Given the description of an element on the screen output the (x, y) to click on. 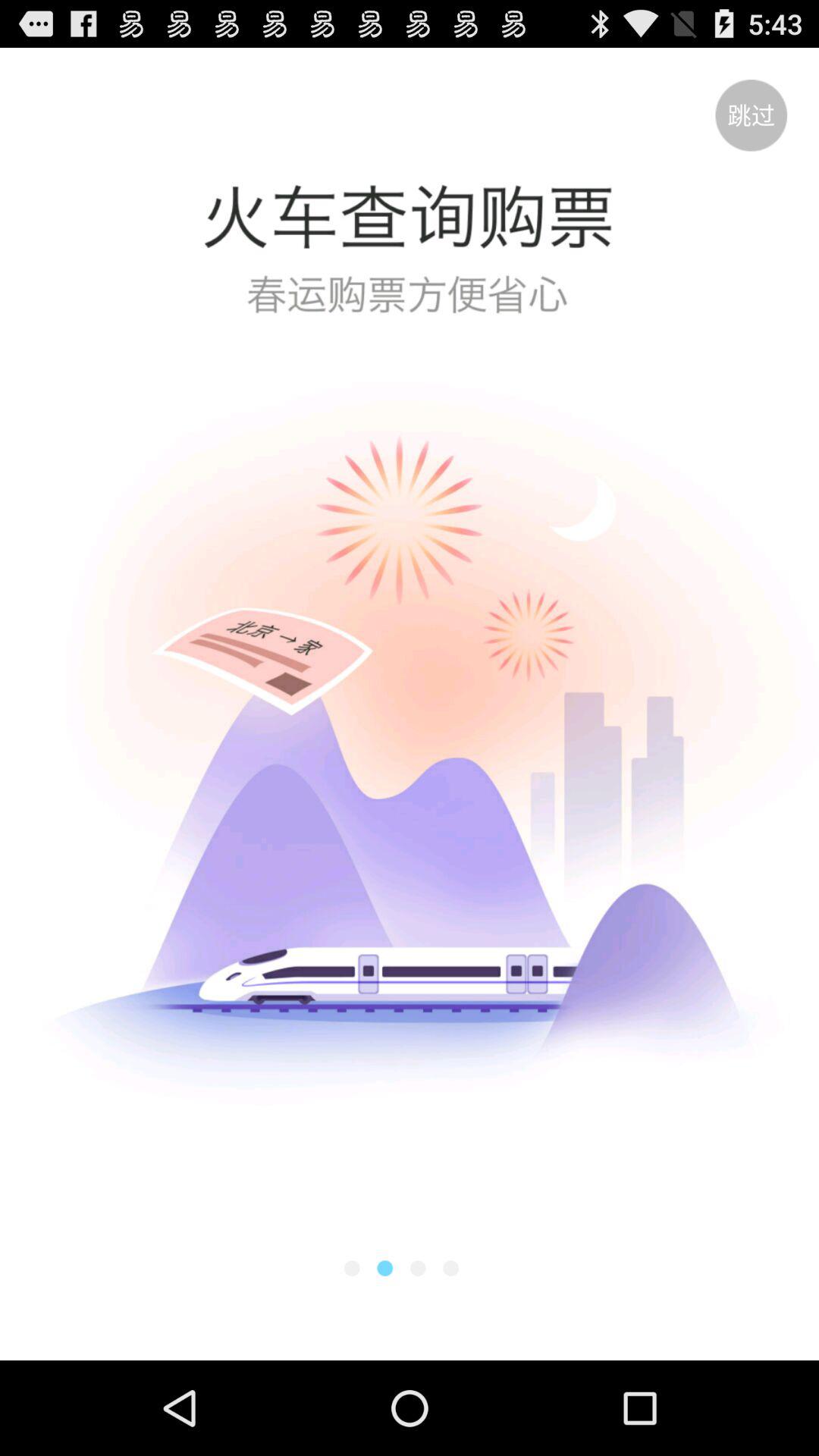
open the item at the top right corner (751, 115)
